Given the description of an element on the screen output the (x, y) to click on. 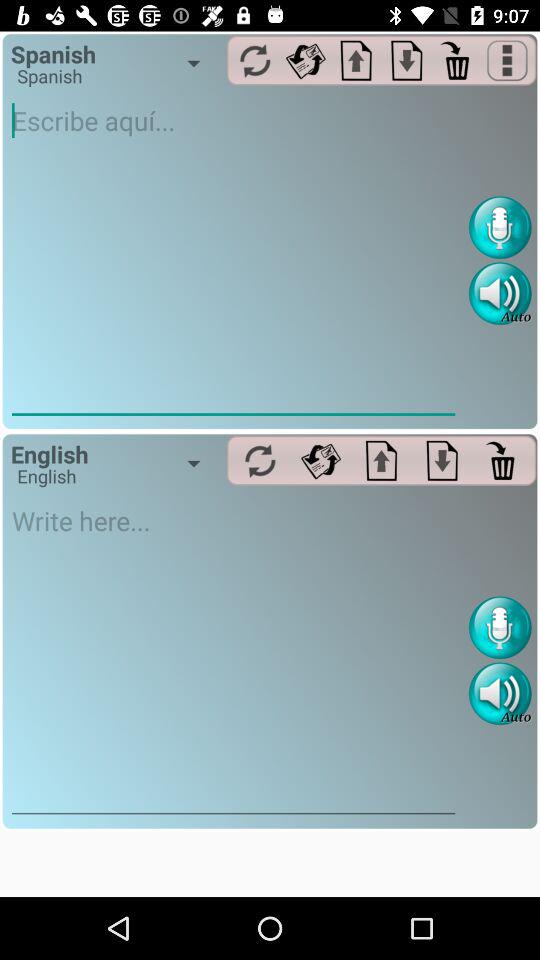
setting option (320, 460)
